Given the description of an element on the screen output the (x, y) to click on. 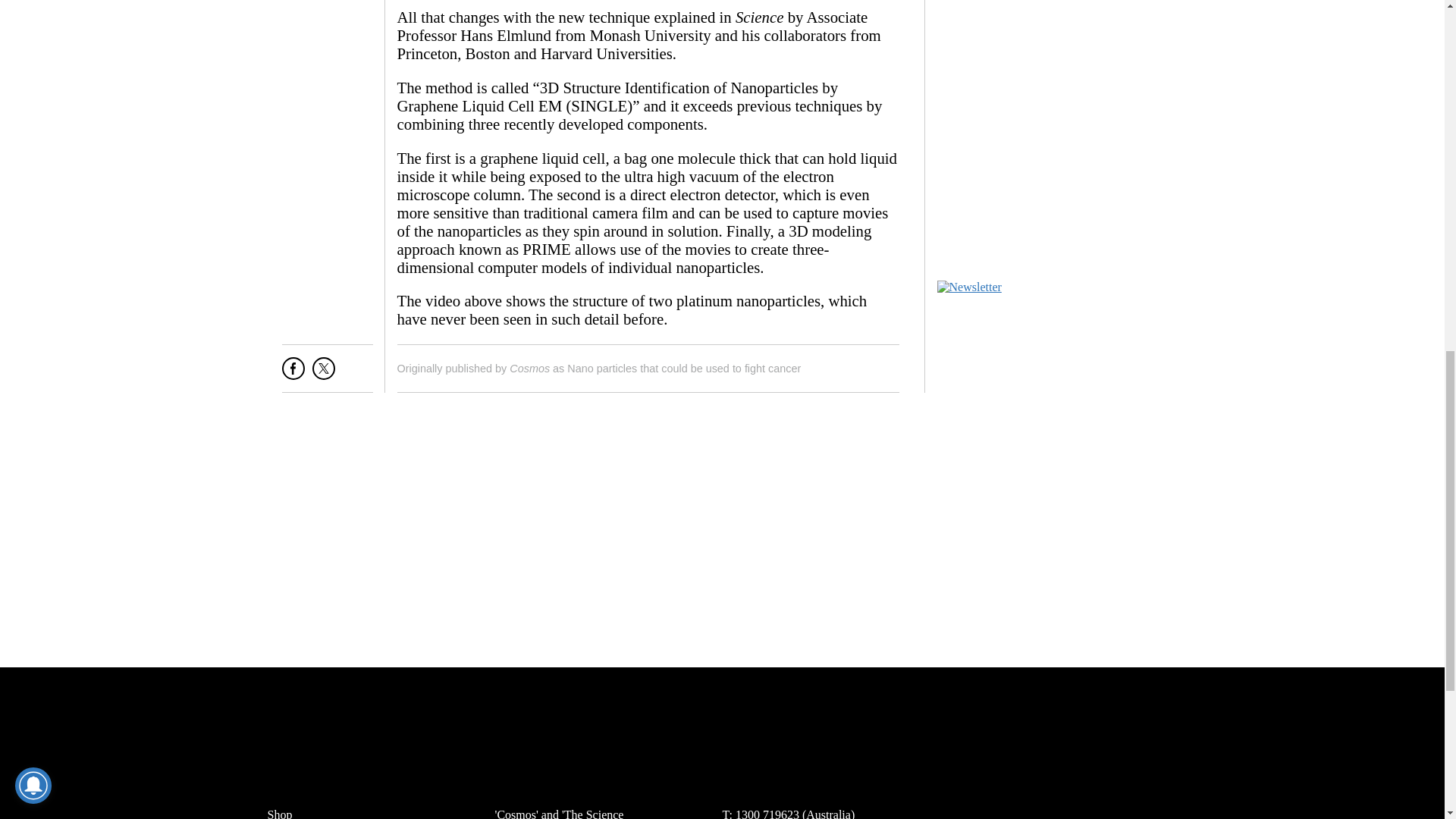
Share on Facebook (293, 374)
Nano particles that could be used to fight cancer (683, 368)
Tweet (323, 374)
